Given the description of an element on the screen output the (x, y) to click on. 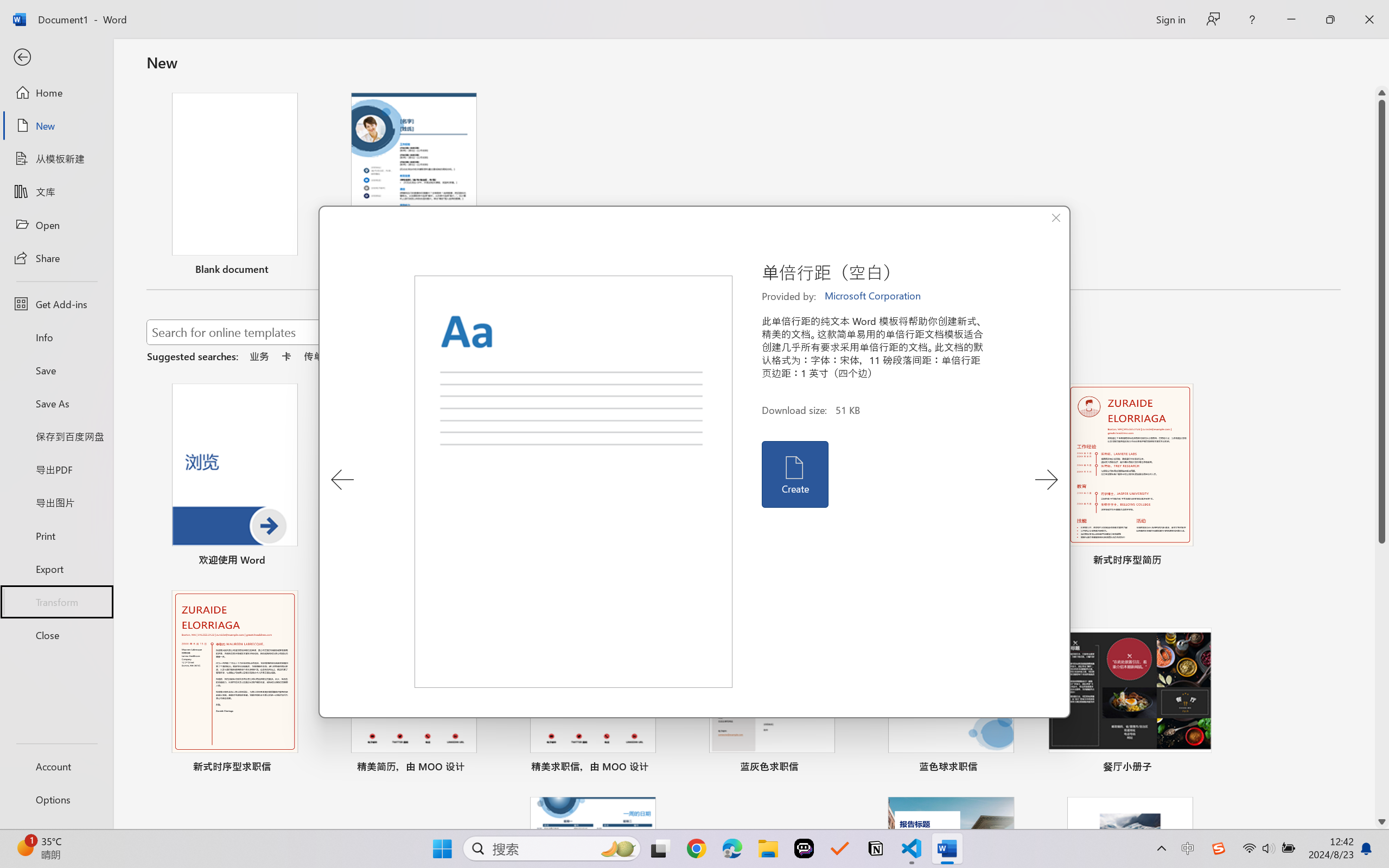
Options (56, 798)
Line up (1382, 92)
Unpin from list (485, 270)
Previous Template (342, 479)
Start searching (638, 332)
